Given the description of an element on the screen output the (x, y) to click on. 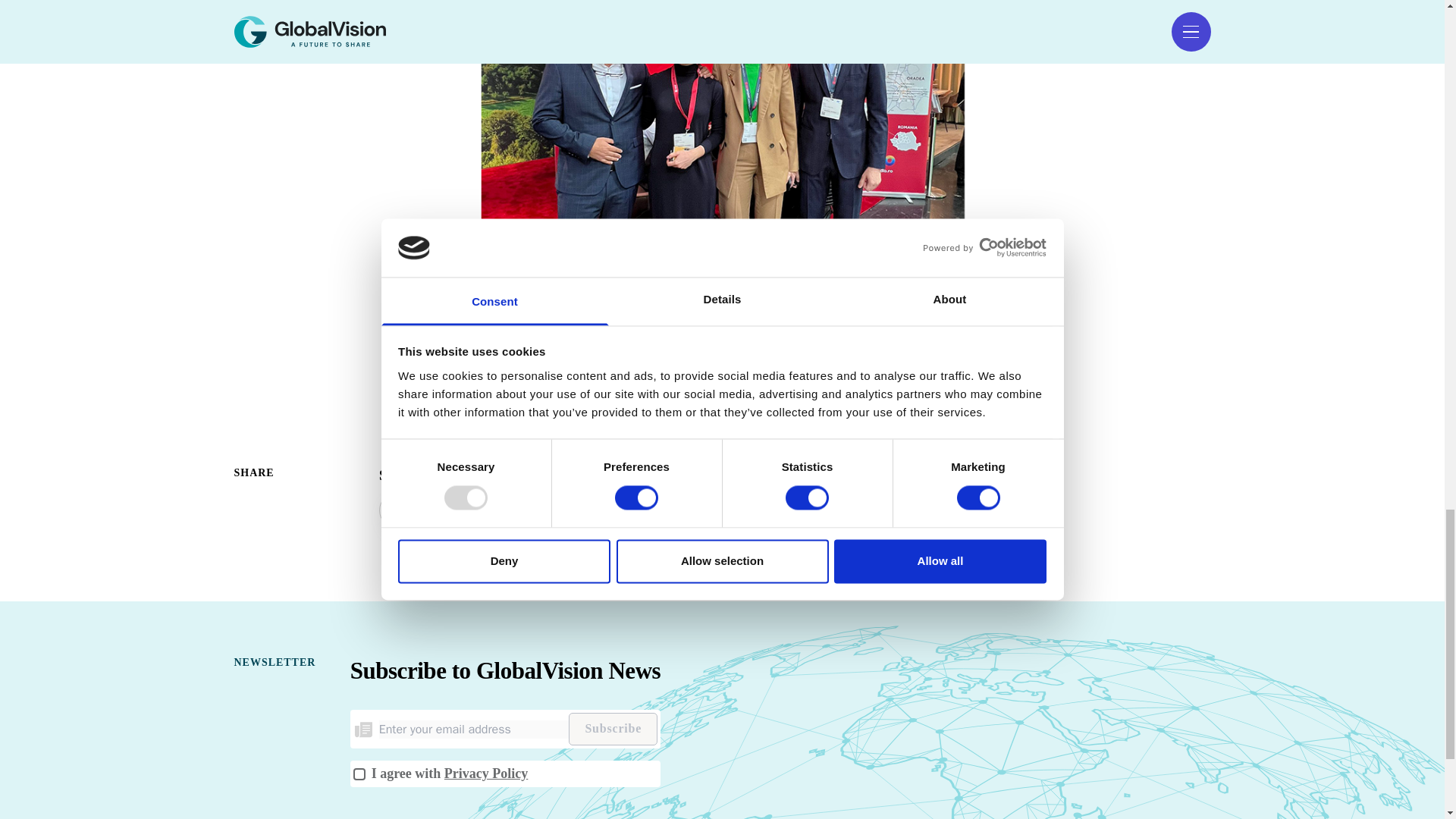
Subscribe (613, 728)
